Given the description of an element on the screen output the (x, y) to click on. 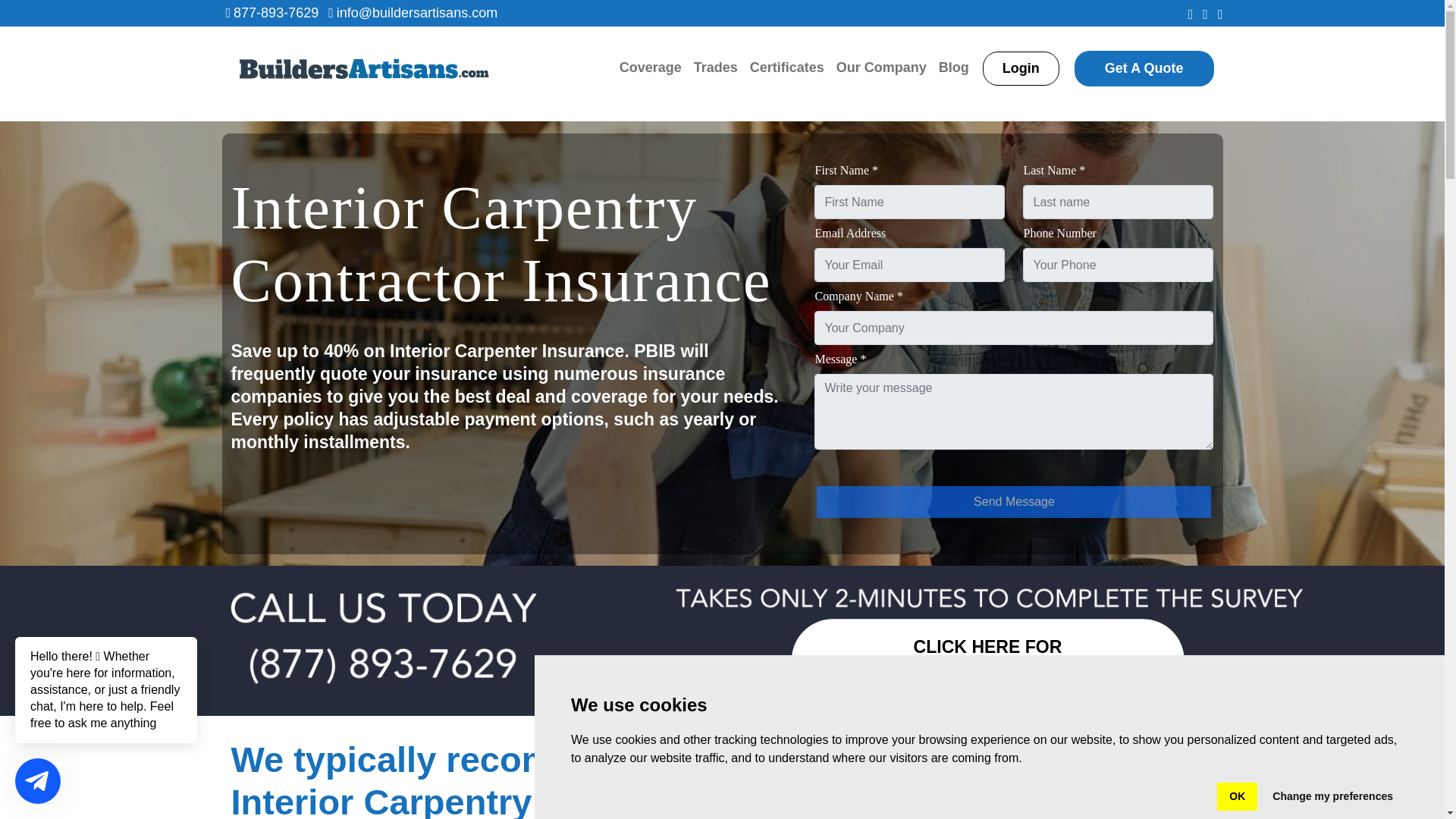
OK (1237, 796)
Send Message (1013, 501)
Change my preferences (1332, 796)
ChatBot chat widget (106, 708)
Coverage (649, 67)
877-893-7629 (275, 12)
Trades (715, 67)
